Given the description of an element on the screen output the (x, y) to click on. 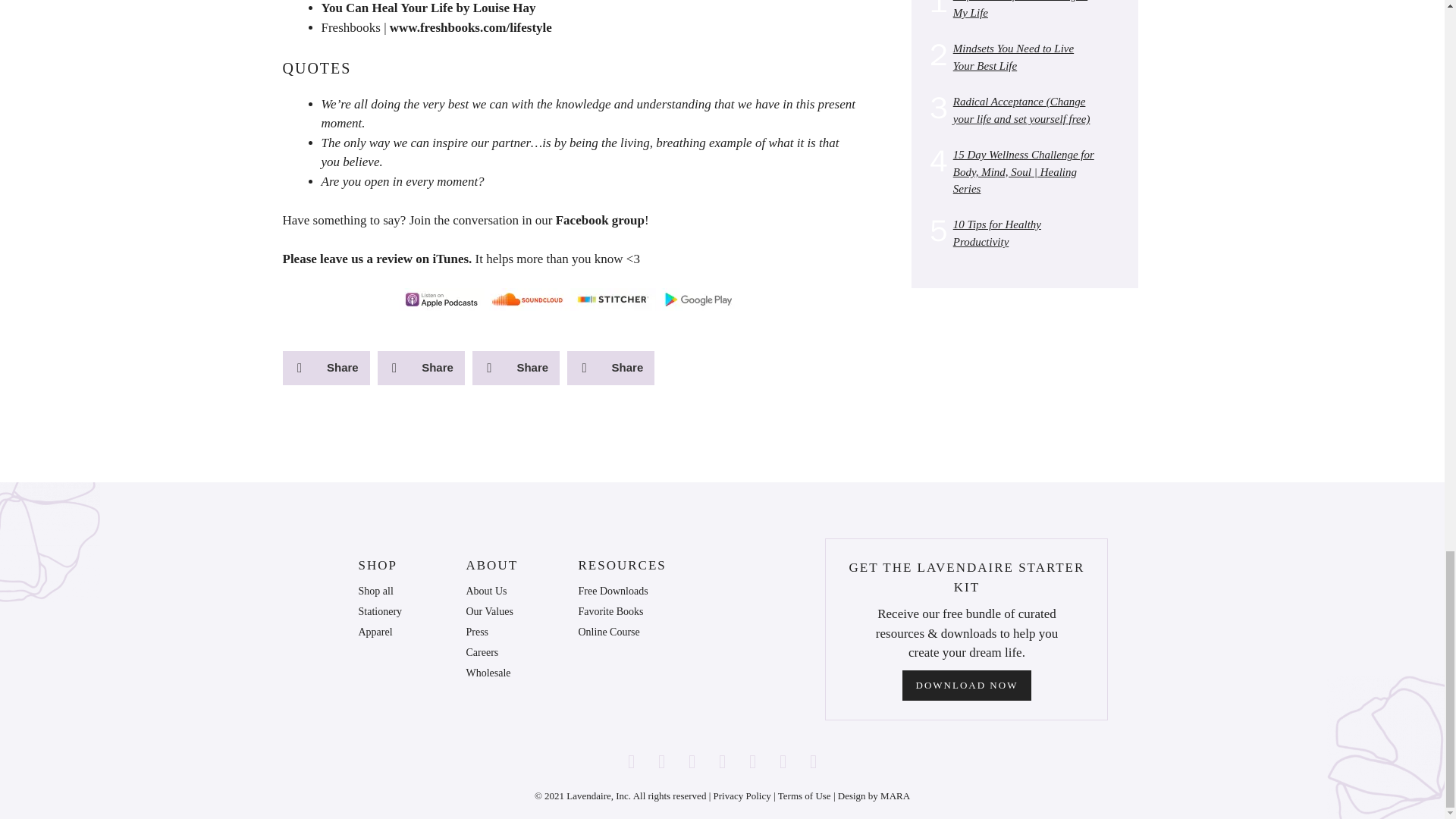
10 Tips for Healthy Productivity (997, 233)
Mindsets You Need to Live Your Best Life (1013, 57)
Please leave us a review on iTunes. (376, 258)
Share (325, 367)
Self Love Shifts that Changed My Life (1020, 9)
Self Love Shifts that Changed My Life (1020, 9)
Mindsets You Need to Live Your Best Life (1013, 57)
Share (515, 367)
Share (420, 367)
You Can Heal Your Life by Louise Hay (428, 7)
Facebook group (600, 219)
Share (610, 367)
